Given the description of an element on the screen output the (x, y) to click on. 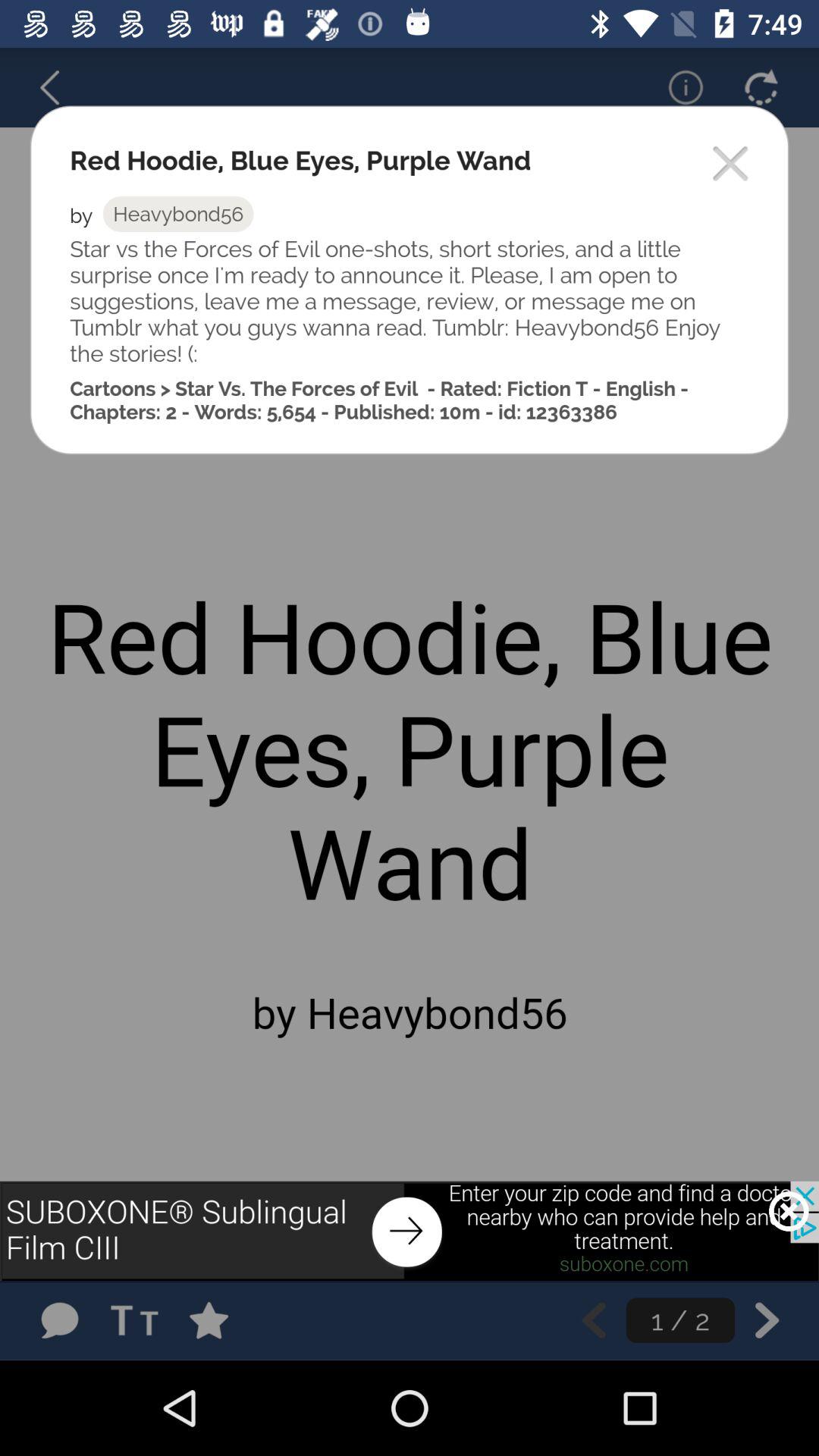
go back (593, 1320)
